Given the description of an element on the screen output the (x, y) to click on. 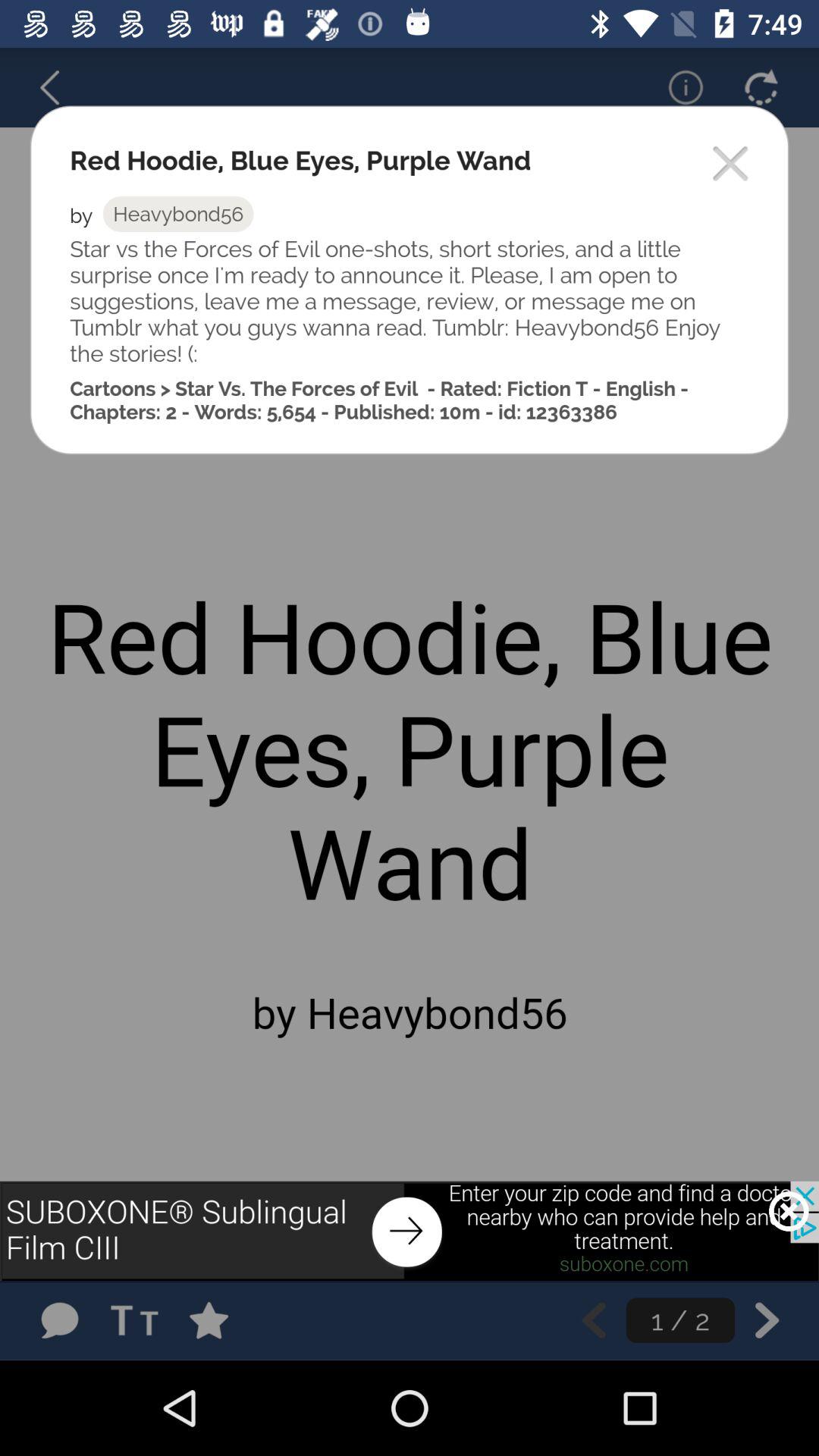
go back (593, 1320)
